Given the description of an element on the screen output the (x, y) to click on. 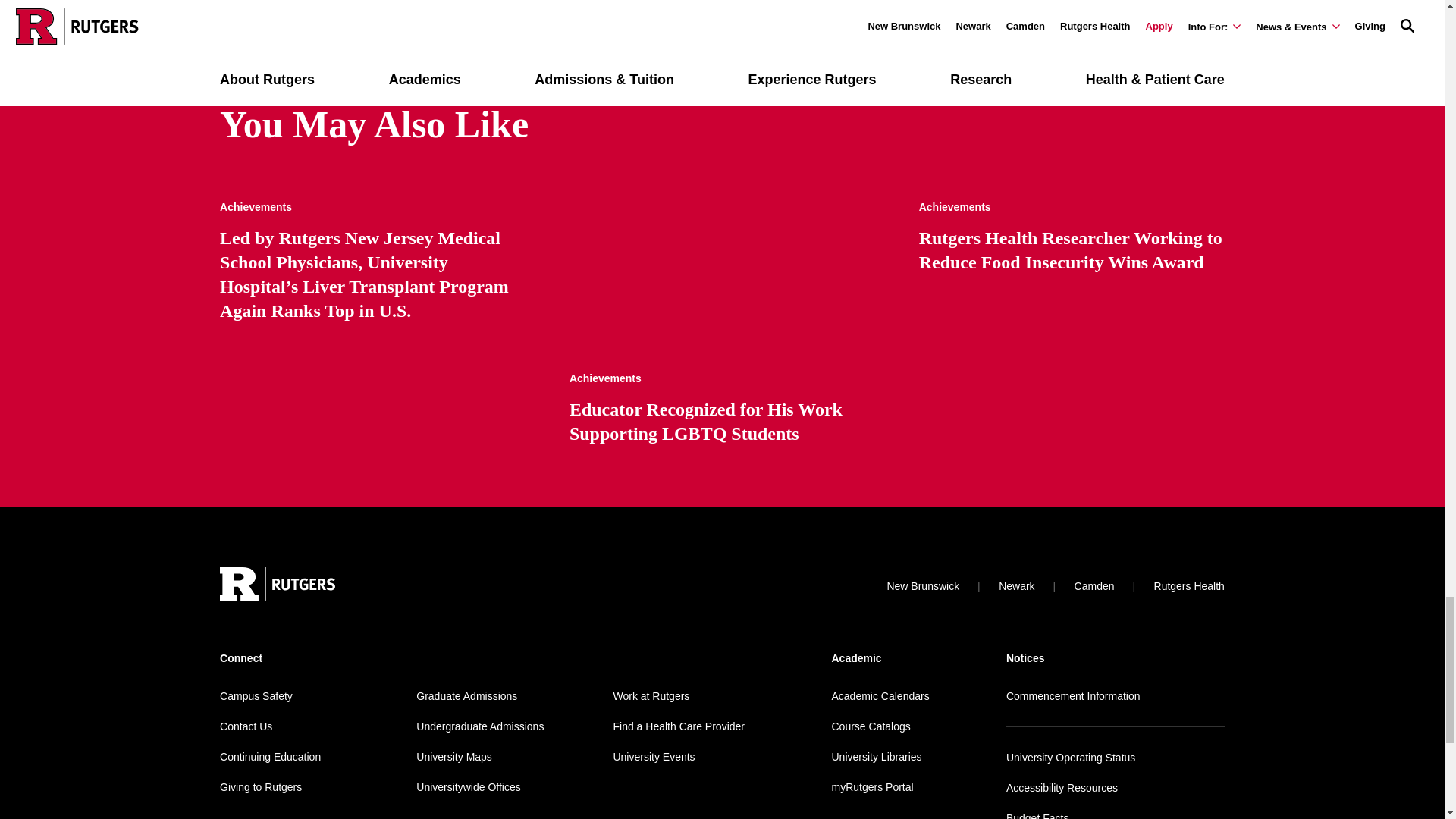
Giving to Rutgers (260, 787)
Accessibility Resources (1062, 787)
Graduate Admissions (466, 695)
University Maps (454, 756)
myRutgers Portal (871, 787)
Continuing Education (269, 756)
Campus Safety (255, 695)
Course Catalogs (870, 726)
Undergraduate Admissions (479, 726)
Academic Calendars (879, 695)
Budget Facts (1037, 815)
Work at Rutgers (650, 695)
University Operating Status (1070, 757)
